Given the description of an element on the screen output the (x, y) to click on. 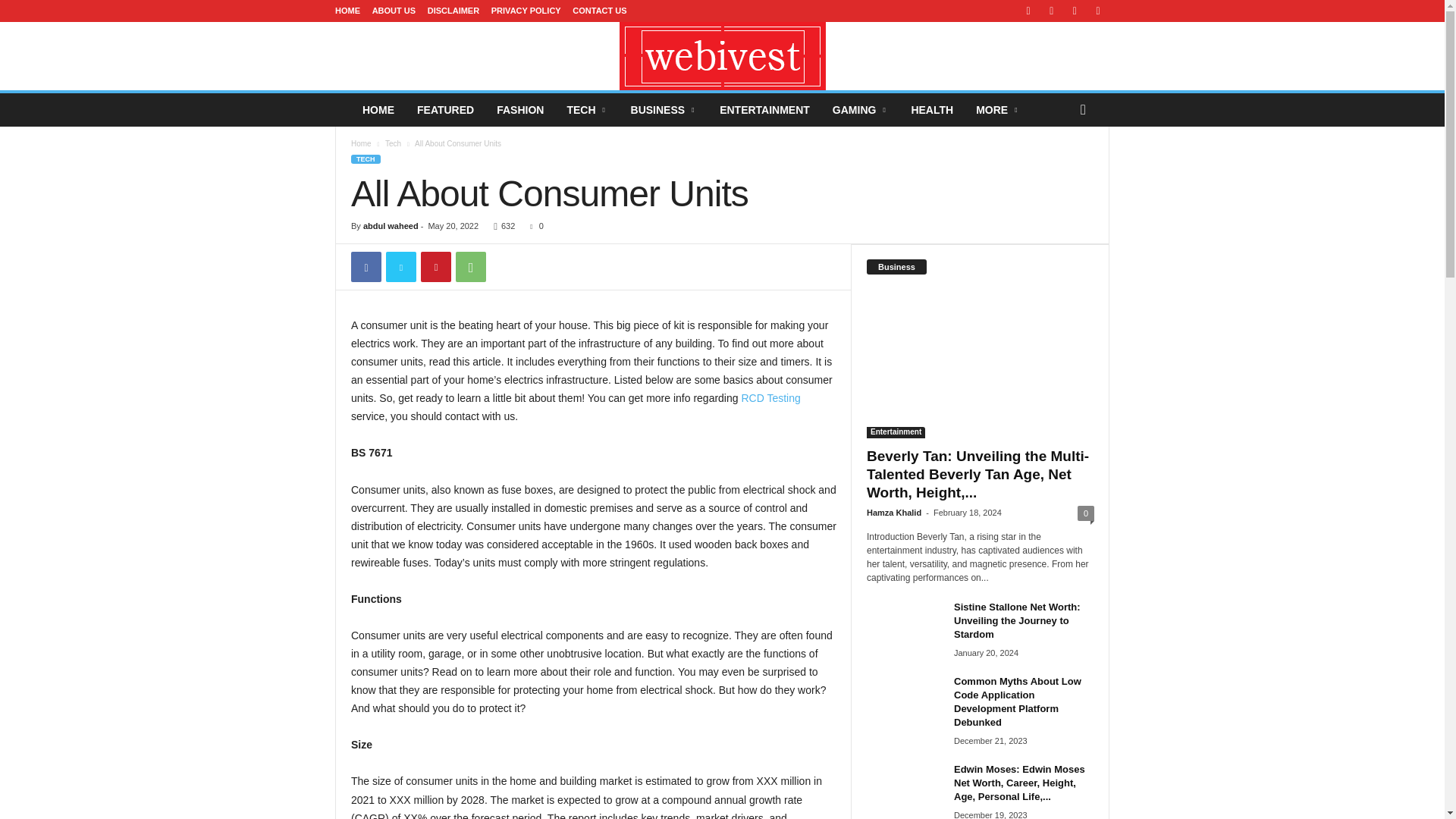
DISCLAIMER (453, 10)
WhatsApp (470, 266)
Pinterest (435, 266)
View all posts in Tech (393, 143)
HOME (378, 109)
Twitter (400, 266)
CONTACT US (599, 10)
PRIVACY POLICY (526, 10)
ABOUT US (393, 10)
Facebook (365, 266)
HOME (346, 10)
